Given the description of an element on the screen output the (x, y) to click on. 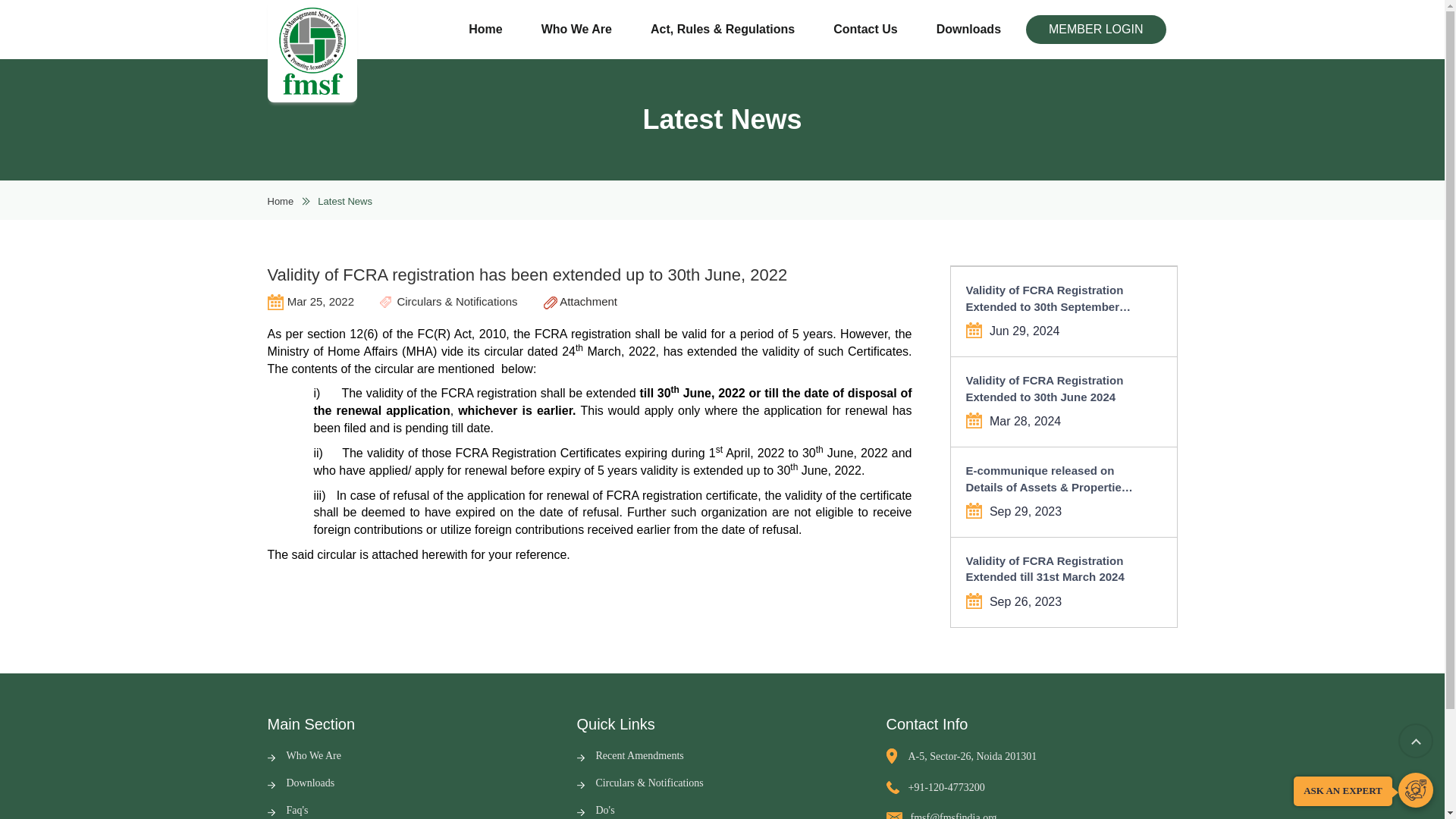
Support (1415, 789)
Validity of FCRA Registration Extended till 31st March 2024 (1052, 568)
Contact Us (865, 29)
Who We Are (303, 755)
Who We Are (576, 29)
MEMBER LOGIN (1096, 29)
Attachment (580, 300)
Faq'S (286, 809)
Ask an Expert (1414, 790)
Validity of FCRA Registration Extended to 30th June 2024 (1052, 388)
